Given the description of an element on the screen output the (x, y) to click on. 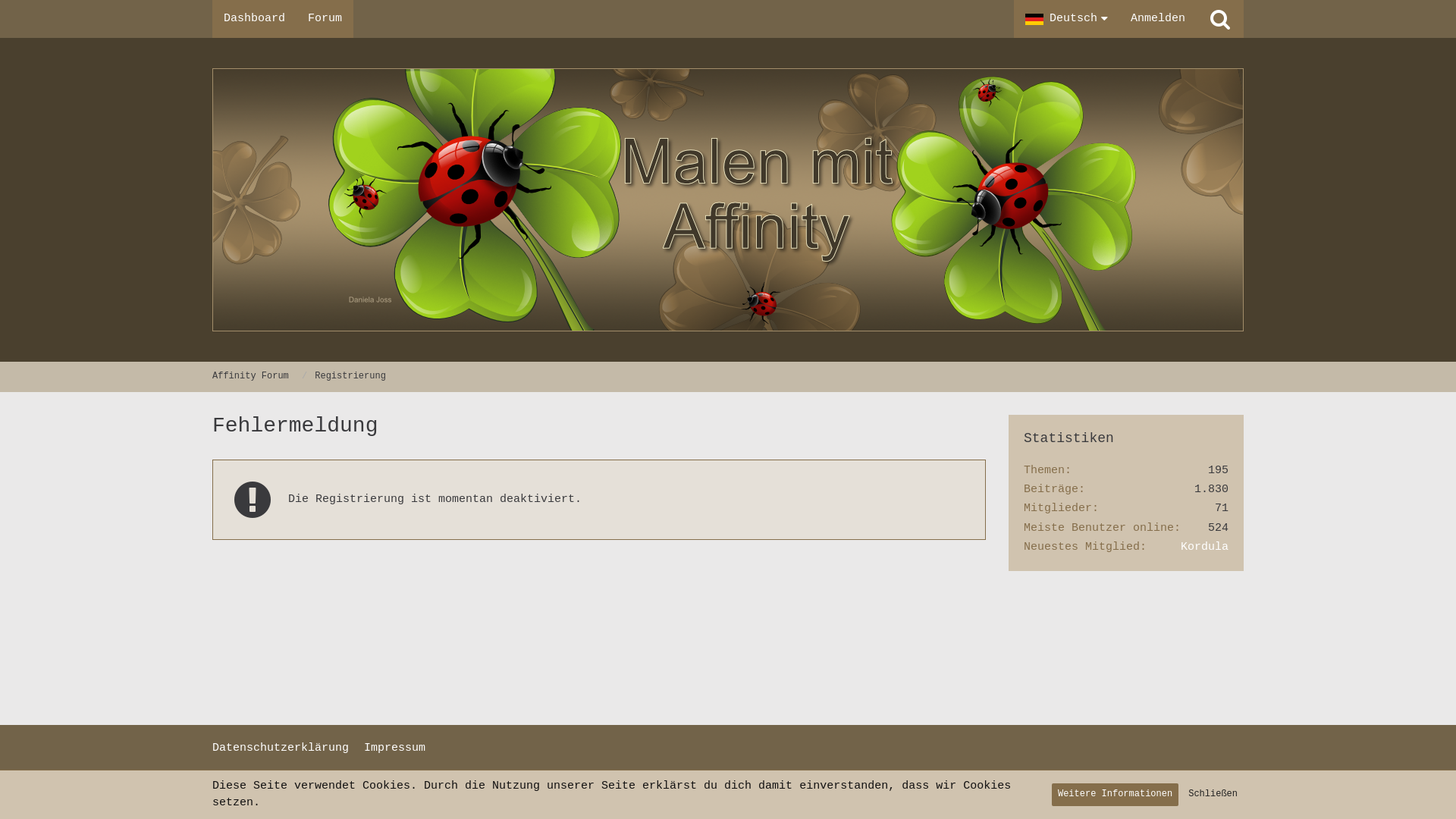
Forum Element type: text (324, 18)
Anmelden Element type: text (1157, 18)
Registrierung Element type: text (349, 375)
Dashboard Element type: text (254, 18)
Weitere Informationen Element type: text (1114, 794)
Impressum Element type: text (394, 747)
Kordula Element type: text (1204, 546)
Affinity Forum Element type: text (250, 375)
Deutsch Element type: text (1066, 18)
